Given the description of an element on the screen output the (x, y) to click on. 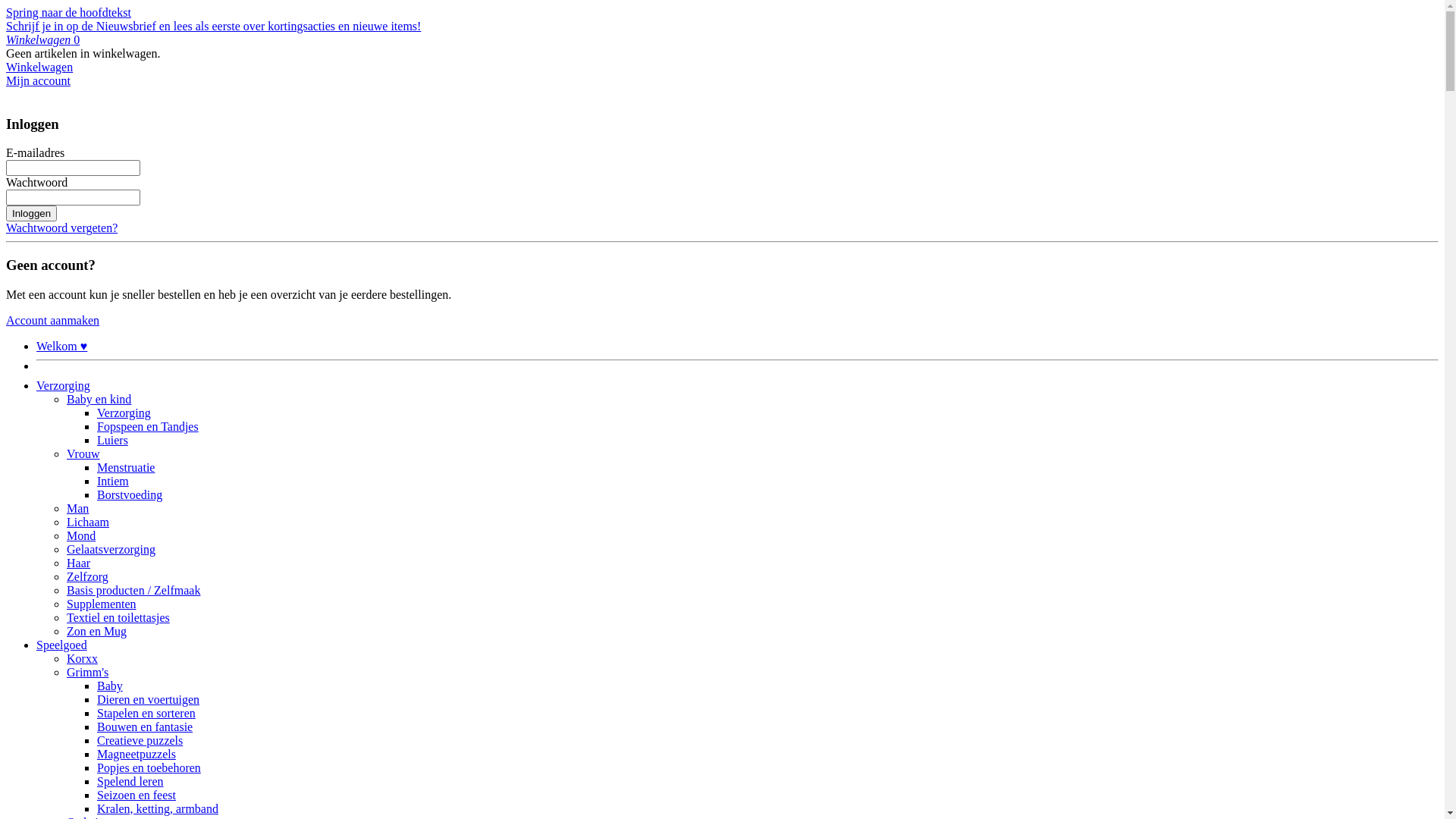
Magneetpuzzels Element type: text (136, 753)
Grimm's Element type: text (87, 671)
Supplementen Element type: text (101, 603)
Zon en Mug Element type: text (96, 630)
Spelend leren Element type: text (130, 781)
Mond Element type: text (80, 535)
Creatieve puzzels Element type: text (139, 740)
Inloggen Element type: text (31, 213)
Fopspeen en Tandjes Element type: text (147, 426)
Baby en kind Element type: text (98, 398)
Verzorging Element type: text (123, 412)
Spring naar de hoofdtekst Element type: text (68, 12)
Speelgoed Element type: text (61, 644)
Dieren en voertuigen Element type: text (148, 699)
Zelfzorg Element type: text (87, 576)
Popjes en toebehoren Element type: text (148, 767)
Winkelwagen 0 Element type: text (42, 39)
Korxx Element type: text (81, 658)
Luiers Element type: text (112, 439)
Menstruatie Element type: text (125, 467)
Basis producten / Zelfmaak Element type: text (133, 589)
Lichaam Element type: text (87, 521)
Mijn account Element type: text (38, 80)
Intiem Element type: text (112, 480)
Account aanmaken Element type: text (52, 319)
Man Element type: text (77, 508)
Vrouw Element type: text (82, 453)
Kralen, ketting, armband Element type: text (157, 808)
Bouwen en fantasie Element type: text (144, 726)
Verzorging Element type: text (63, 385)
Gelaatsverzorging Element type: text (110, 548)
Stapelen en sorteren Element type: text (146, 712)
Seizoen en feest Element type: text (136, 794)
Borstvoeding Element type: text (129, 494)
Wachtwoord vergeten? Element type: text (61, 227)
Baby Element type: text (109, 685)
Winkelwagen Element type: text (39, 66)
Haar Element type: text (78, 562)
Textiel en toilettasjes Element type: text (117, 617)
